Given the description of an element on the screen output the (x, y) to click on. 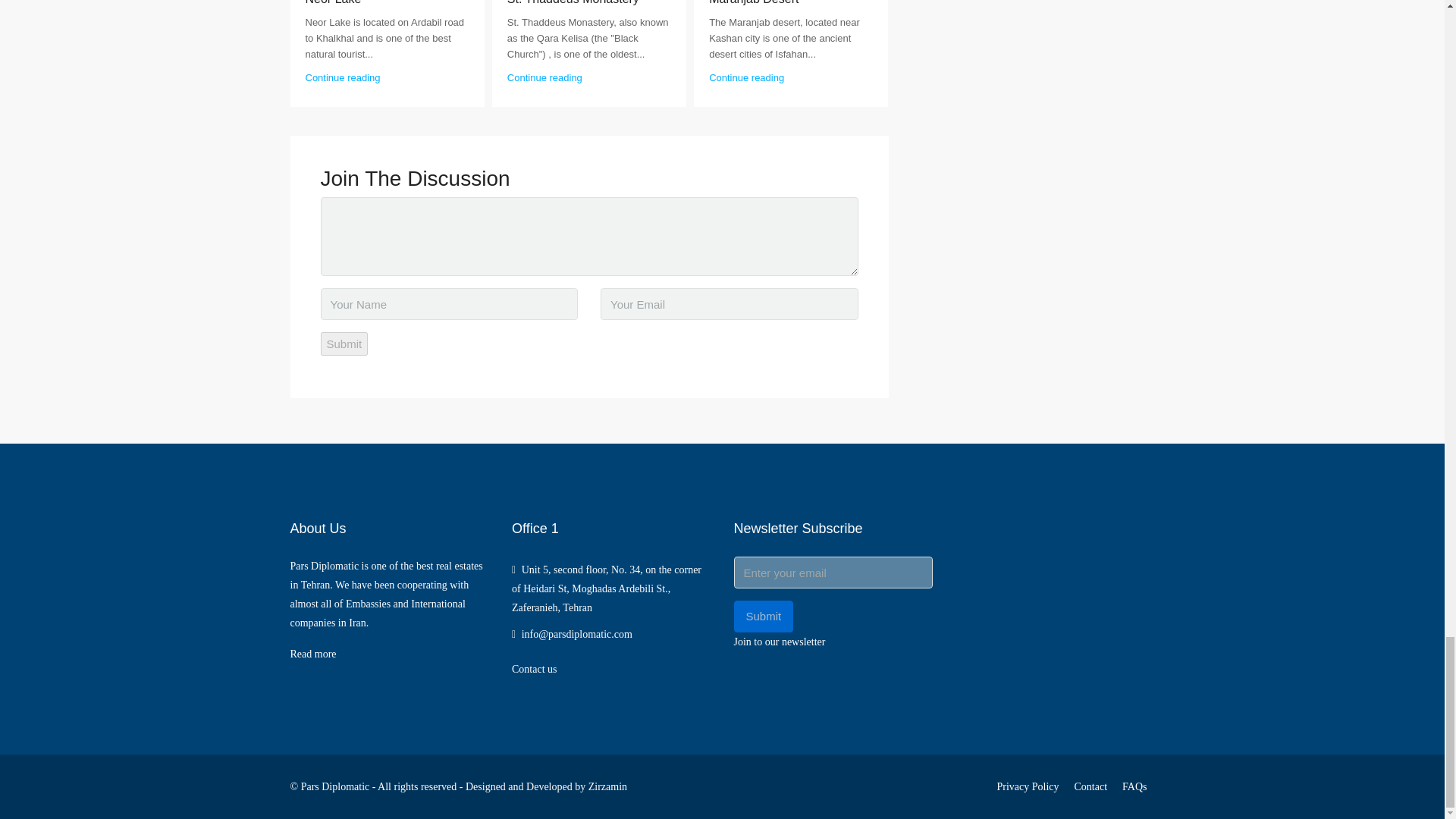
Submit (344, 343)
